Given the description of an element on the screen output the (x, y) to click on. 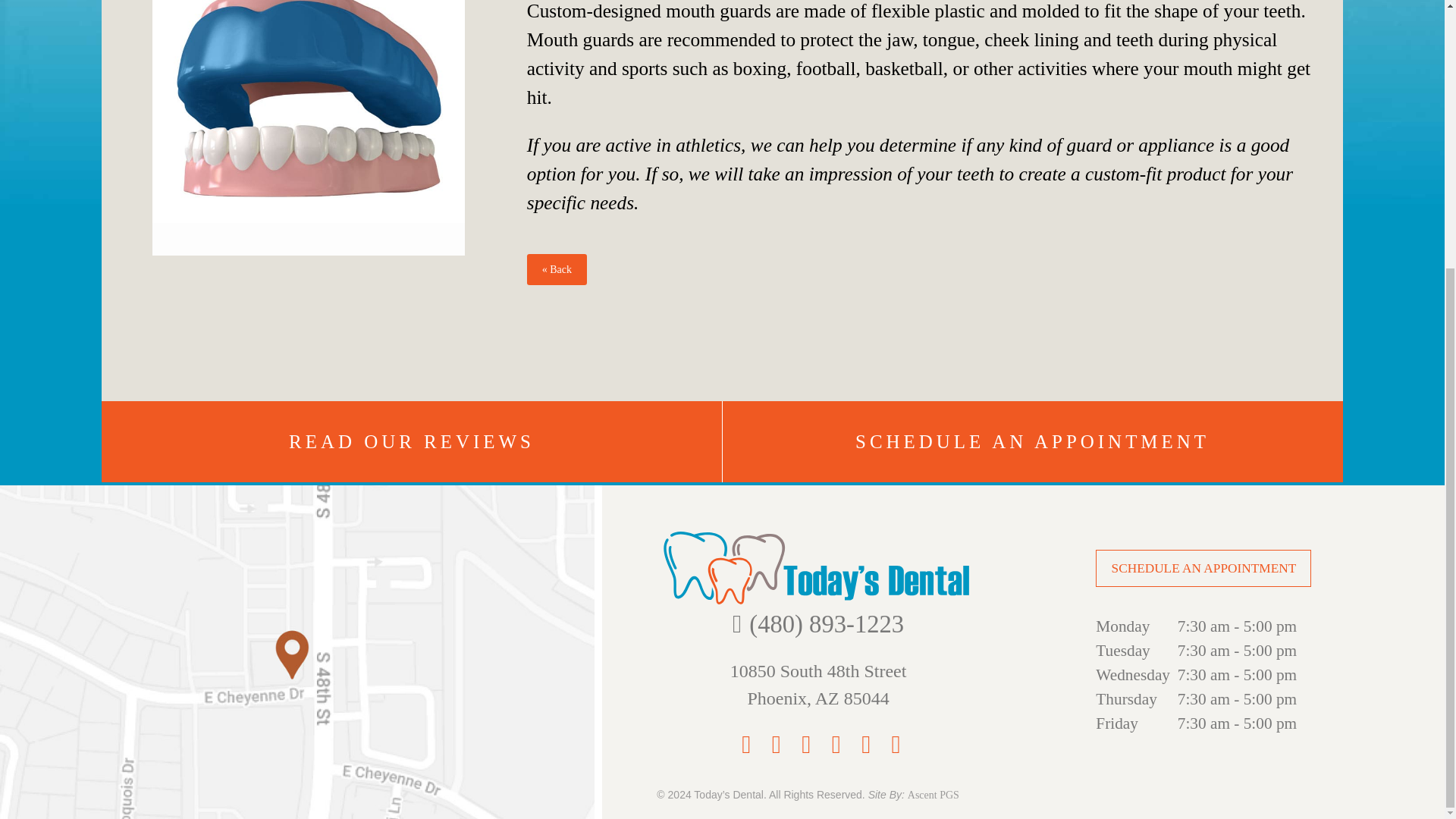
SCHEDULE AN APPOINTMENT (818, 684)
READ OUR REVIEWS (1032, 441)
